Given the description of an element on the screen output the (x, y) to click on. 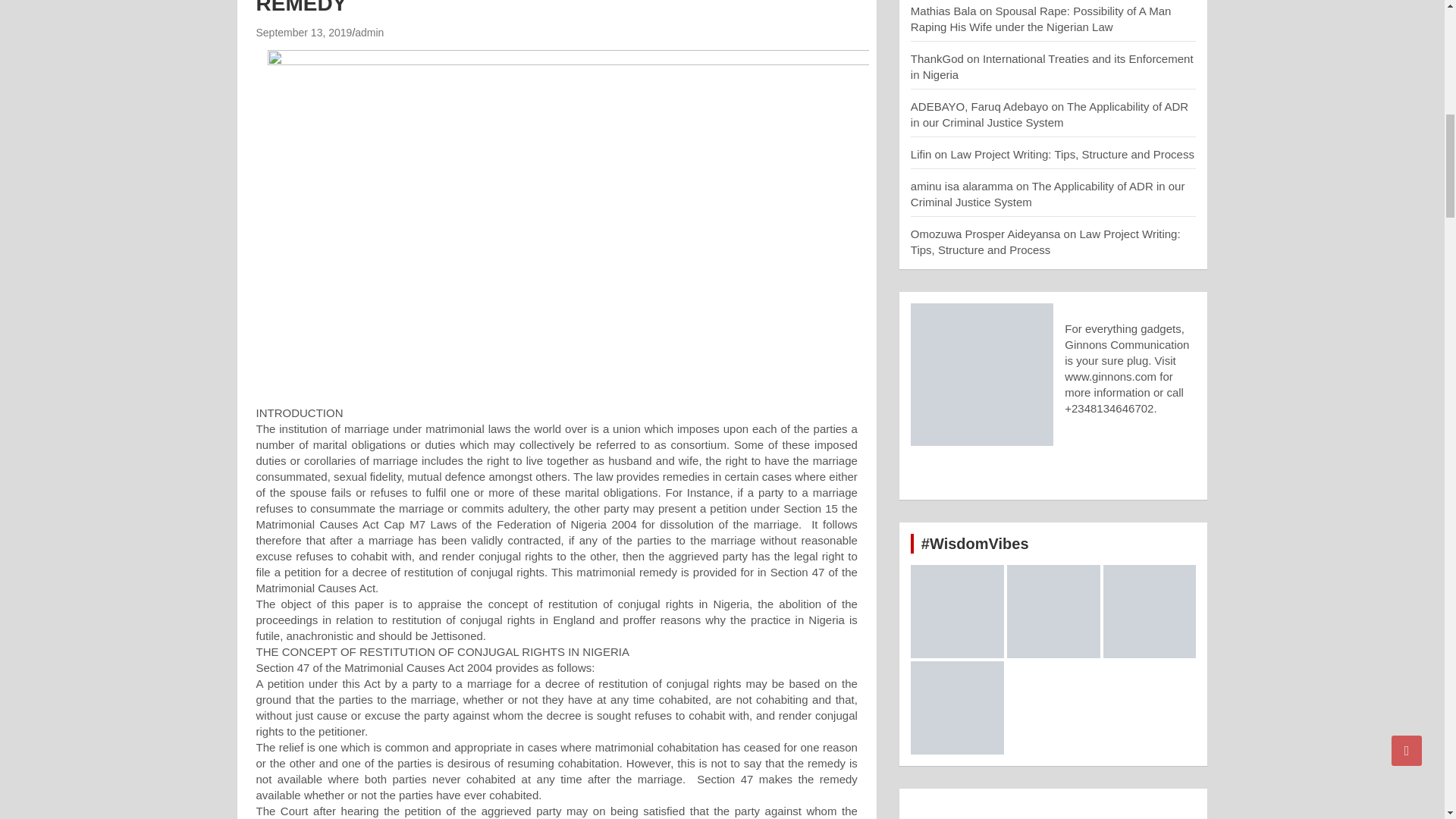
admin (369, 32)
September 13, 2019 (304, 32)
